Given the description of an element on the screen output the (x, y) to click on. 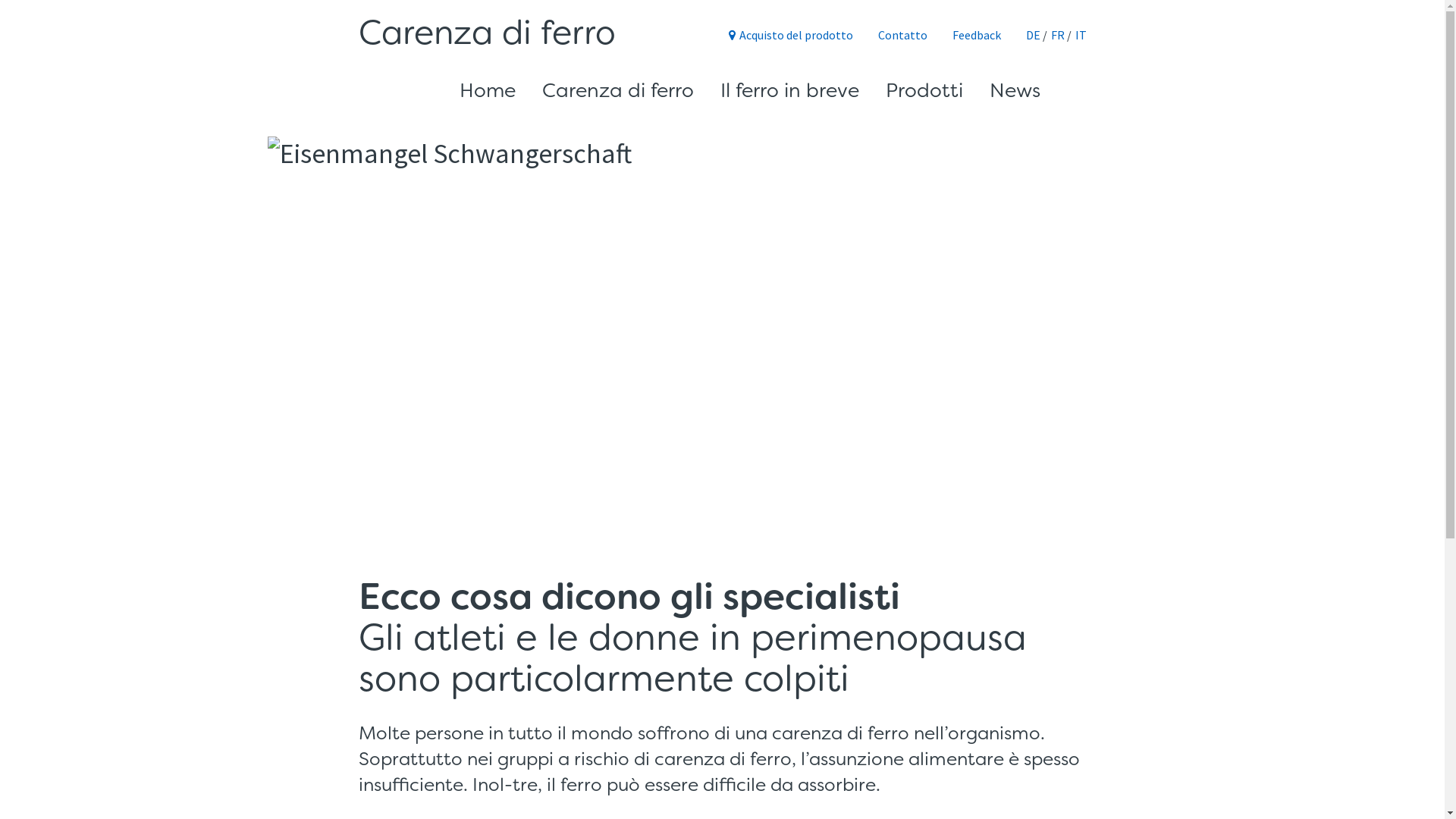
FR Element type: text (1057, 34)
Il ferro in breve Element type: text (789, 90)
Feedback Element type: text (976, 34)
DE Element type: text (1032, 34)
Carenza di ferro Element type: text (617, 90)
Home Element type: text (487, 90)
IT Element type: text (1080, 34)
News Element type: text (1013, 90)
Contatto Element type: text (902, 34)
Acquisto del prodotto Element type: text (790, 34)
Prodotti Element type: text (924, 90)
Carenza di ferro Element type: text (486, 32)
